Given the description of an element on the screen output the (x, y) to click on. 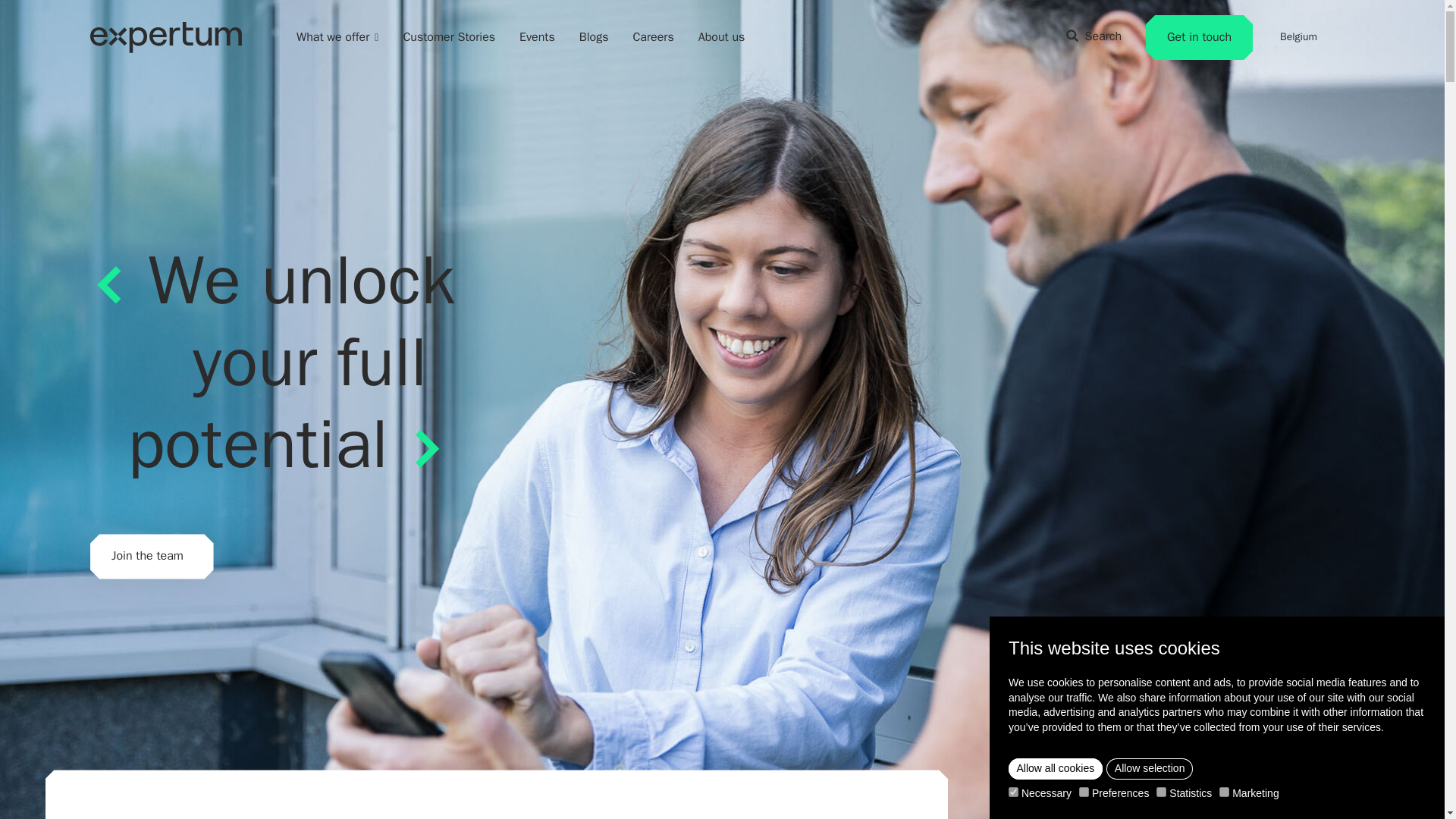
What we offer (337, 37)
Belgium (1306, 36)
on (1161, 791)
Get in touch (1198, 37)
Blogs (593, 37)
Search (1093, 36)
Customer Stories (449, 37)
on (1224, 791)
Allow selection (1149, 769)
Events (536, 37)
About us (721, 37)
on (1083, 791)
Careers (651, 37)
Allow all cookies (1055, 769)
on (1013, 791)
